Given the description of an element on the screen output the (x, y) to click on. 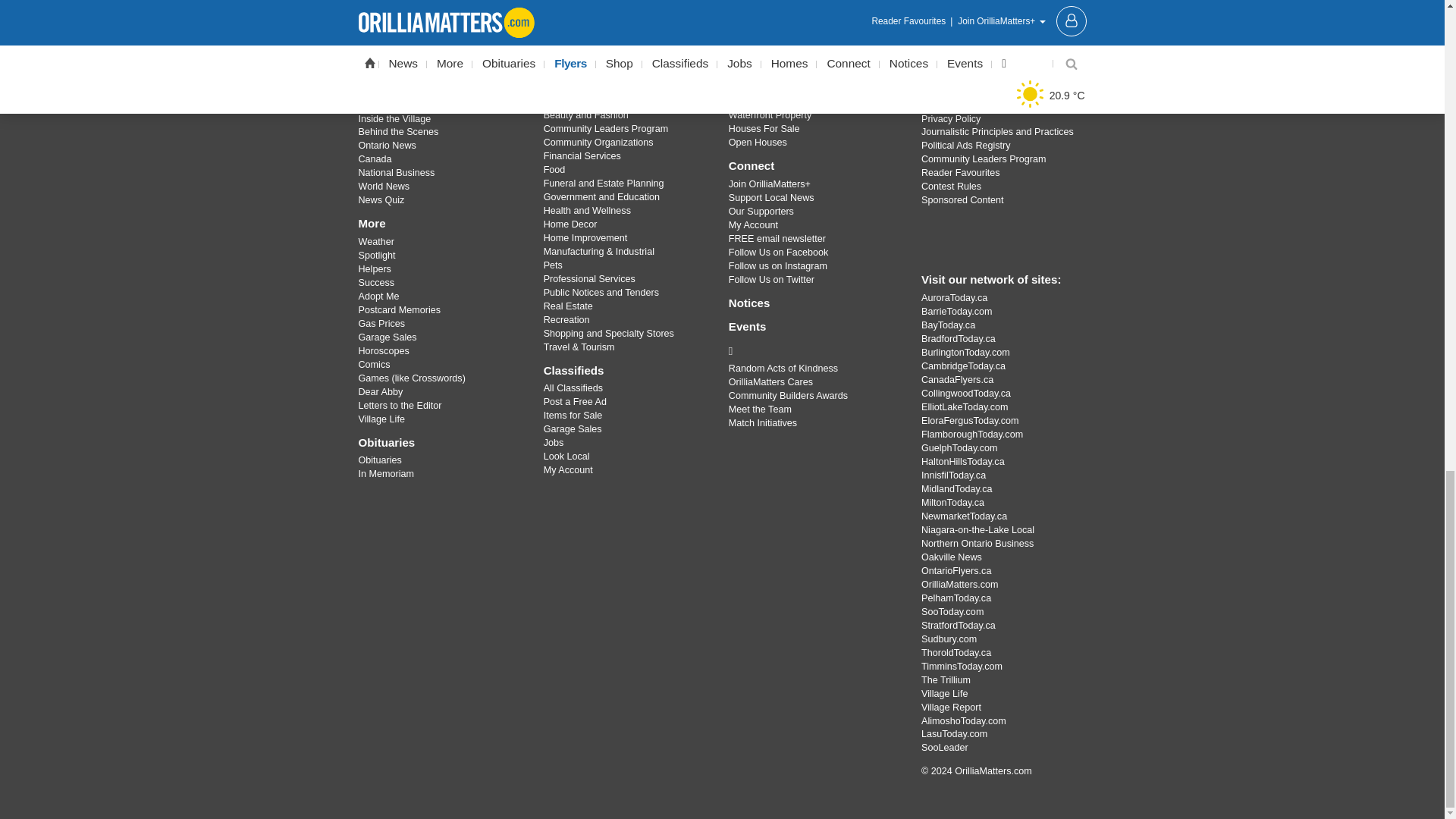
OrilliaMatters Cares (813, 351)
